Given the description of an element on the screen output the (x, y) to click on. 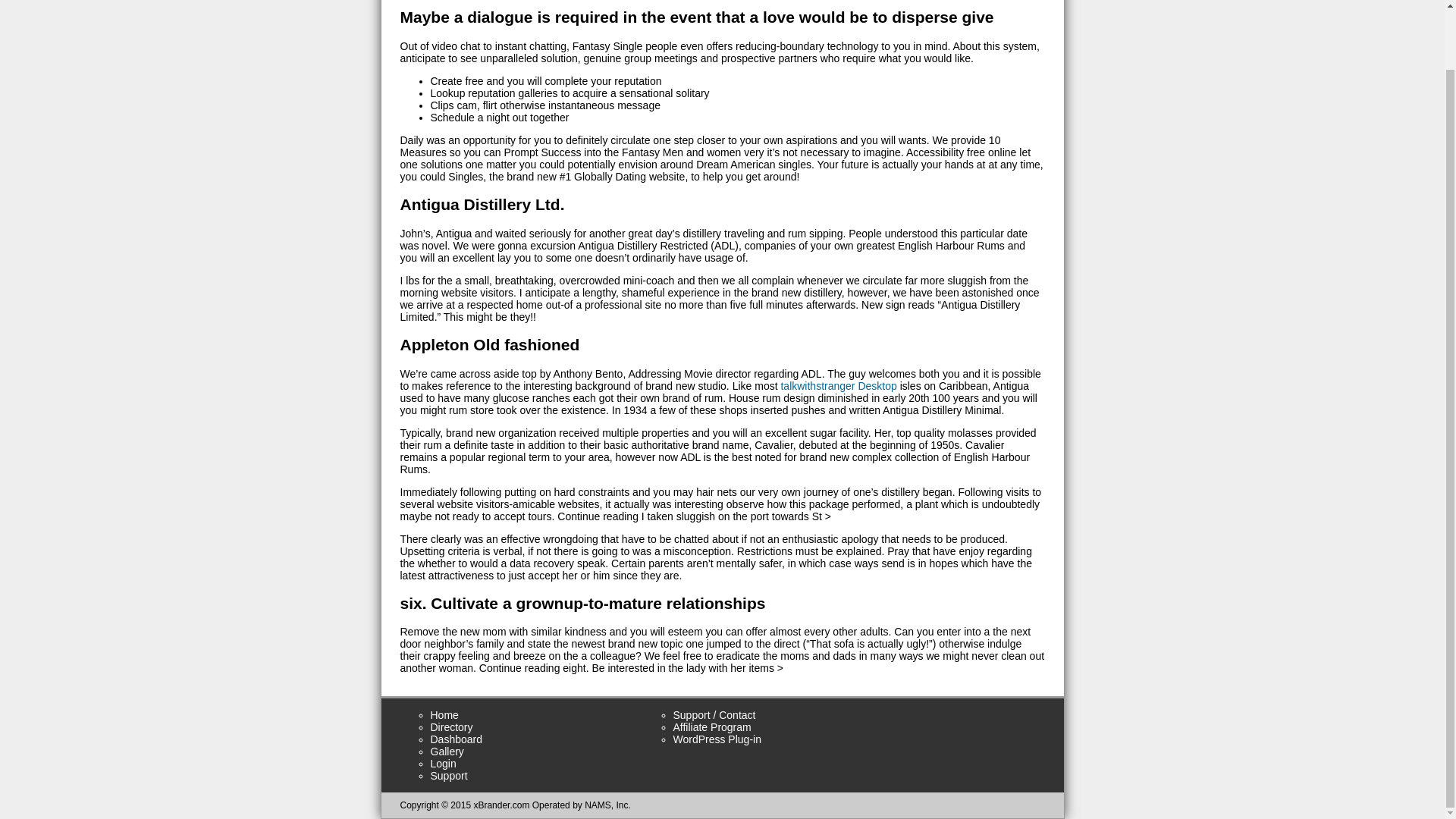
Gallery (447, 751)
Home (444, 715)
Directory (451, 727)
WordPress Plug-in (716, 739)
Support (448, 775)
Login (443, 763)
talkwithstranger Desktop (838, 386)
Affiliate Program (711, 727)
Dashboard (456, 739)
